Given the description of an element on the screen output the (x, y) to click on. 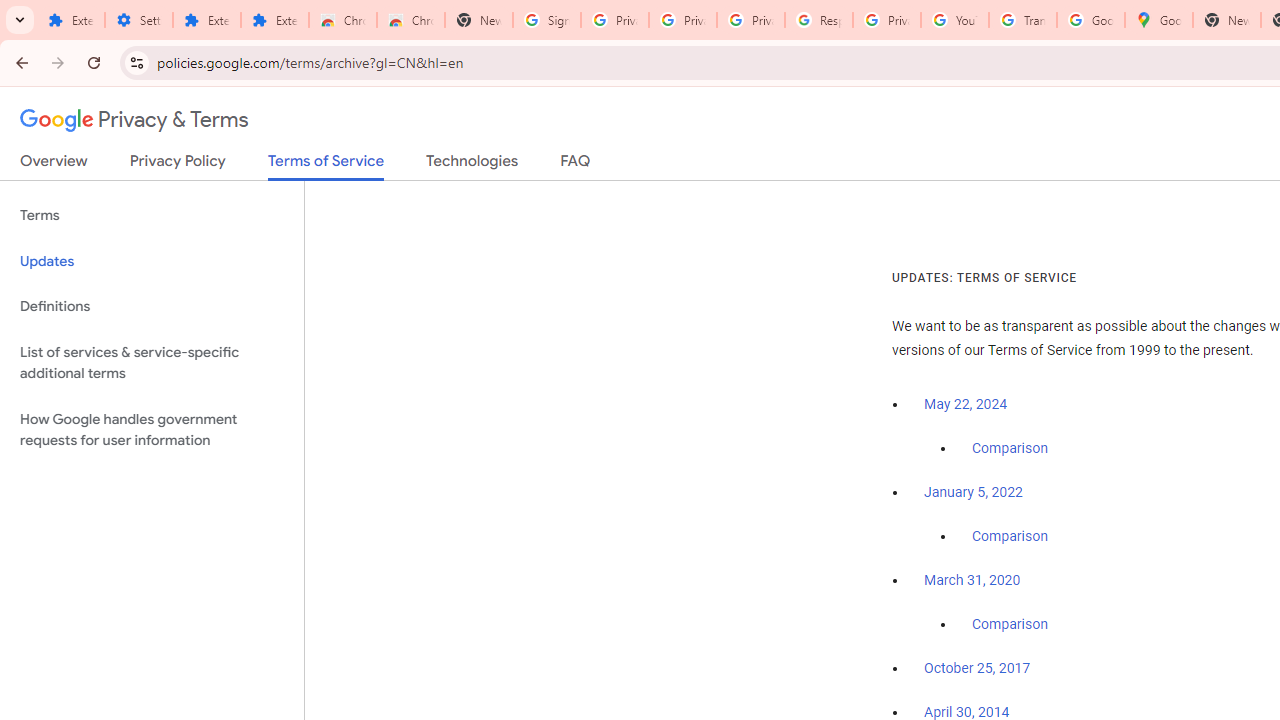
New Tab (1226, 20)
Extensions (206, 20)
Extensions (274, 20)
Extensions (70, 20)
May 22, 2024 (966, 404)
